Given the description of an element on the screen output the (x, y) to click on. 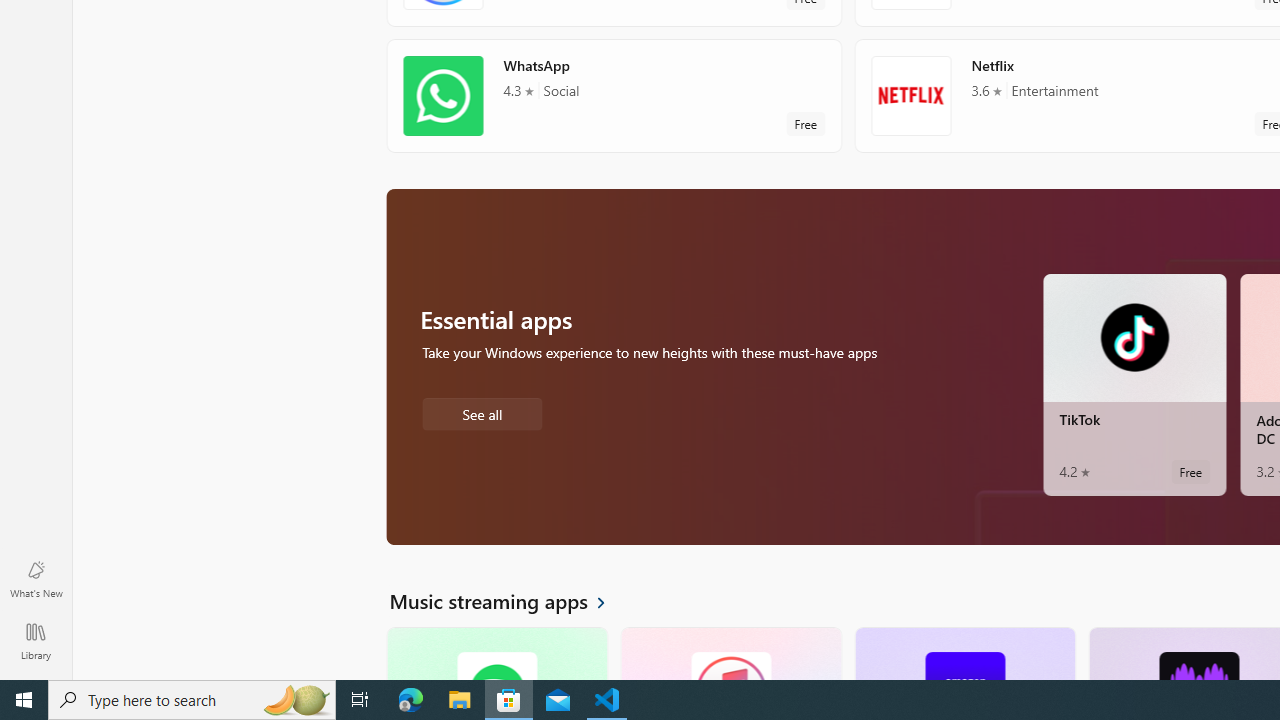
See all  Essential apps (481, 412)
TikTok. Average rating of 4.2 out of five stars. Free   (1134, 384)
See all  Music streaming apps (509, 600)
Library (35, 640)
iTunes. Average rating of 2.5 out of five stars. Free   (730, 653)
WhatsApp. Average rating of 4.3 out of five stars. Free   (614, 95)
What's New (35, 578)
